Given the description of an element on the screen output the (x, y) to click on. 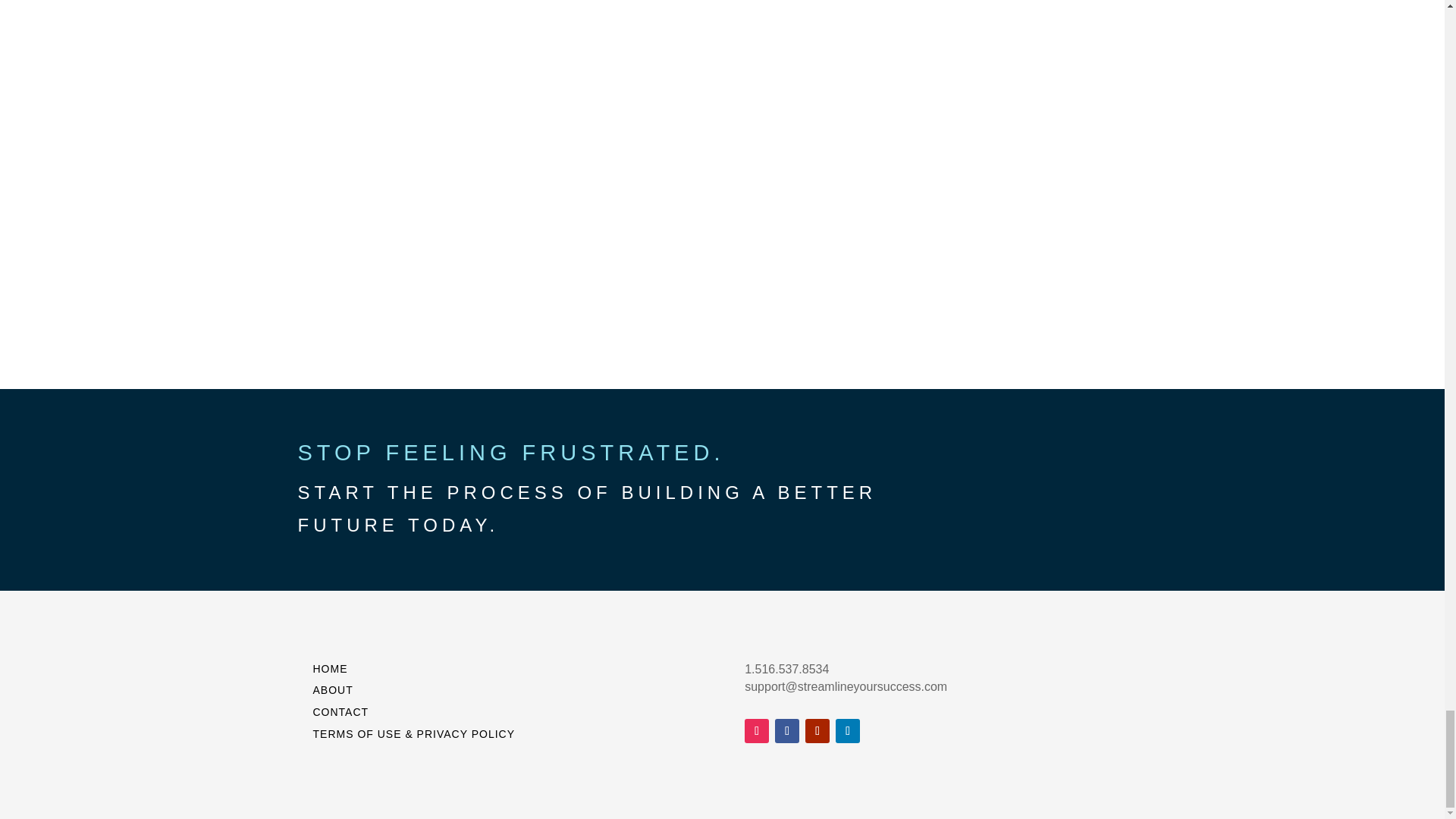
Follow on LinkedIn (847, 730)
Follow on Instagram (756, 730)
Plan-Section (722, 62)
Follow on Facebook (786, 730)
Follow on Youtube (817, 730)
